Given the description of an element on the screen output the (x, y) to click on. 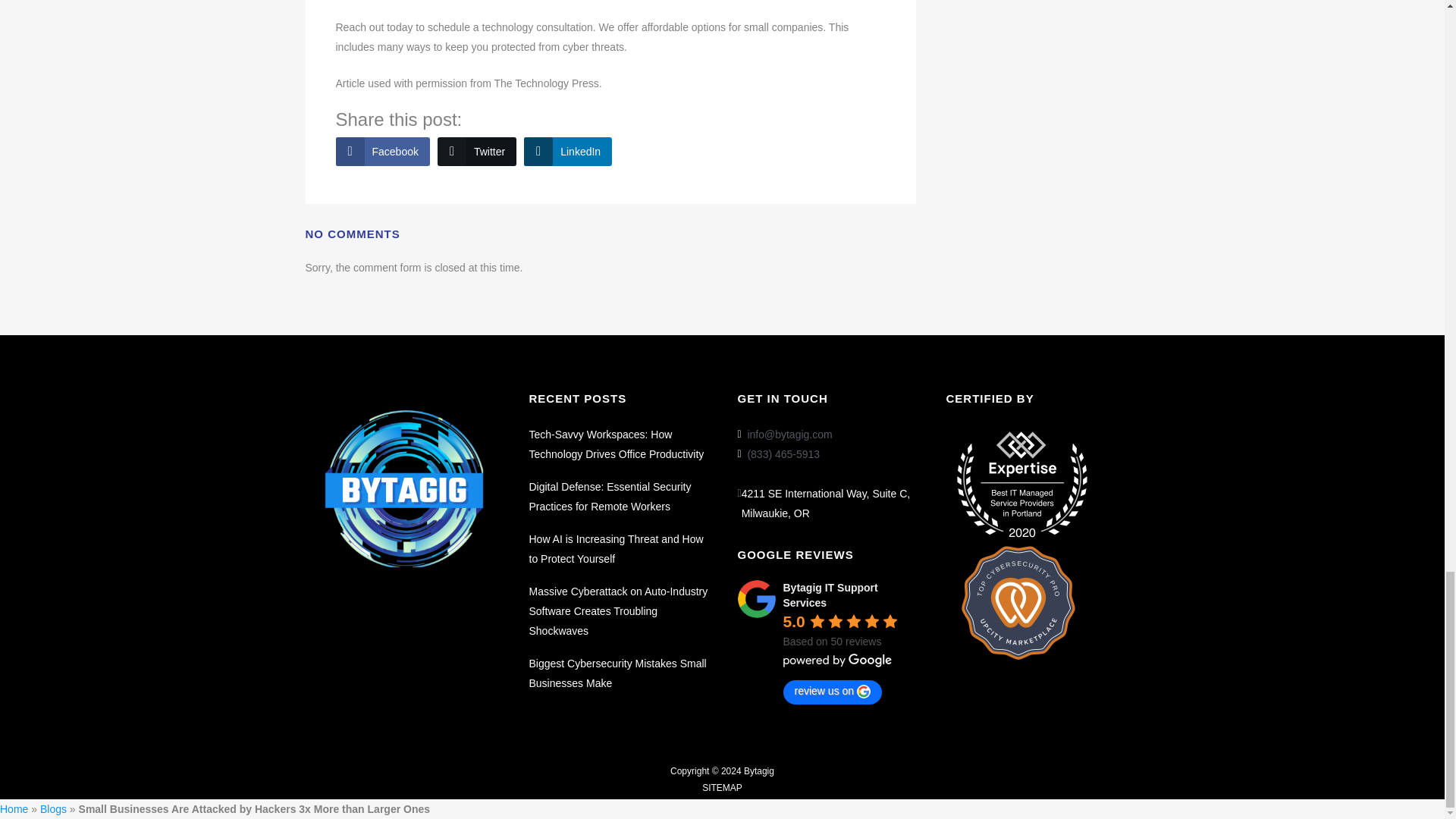
powered by Google (837, 660)
Bytagig IT Support Services (755, 598)
